Given the description of an element on the screen output the (x, y) to click on. 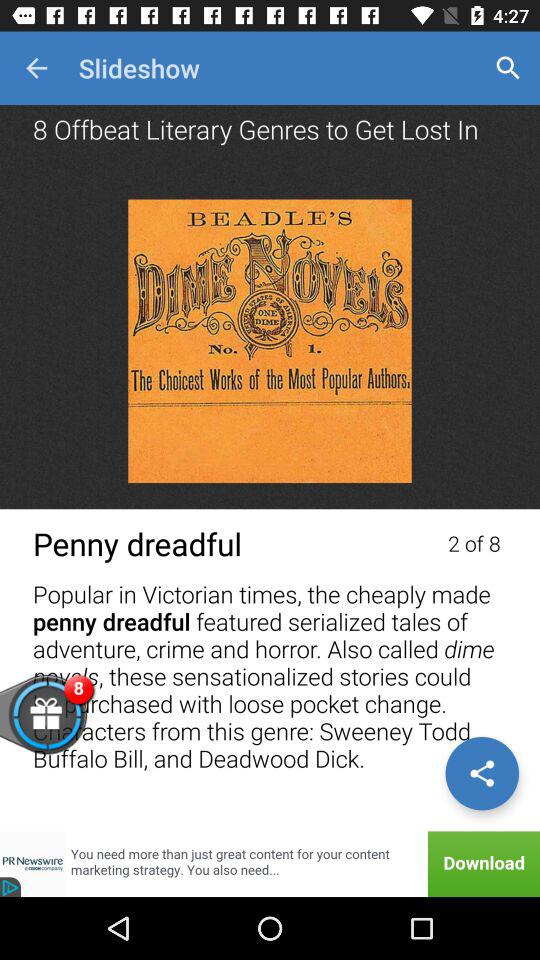
gifts (78, 726)
